Given the description of an element on the screen output the (x, y) to click on. 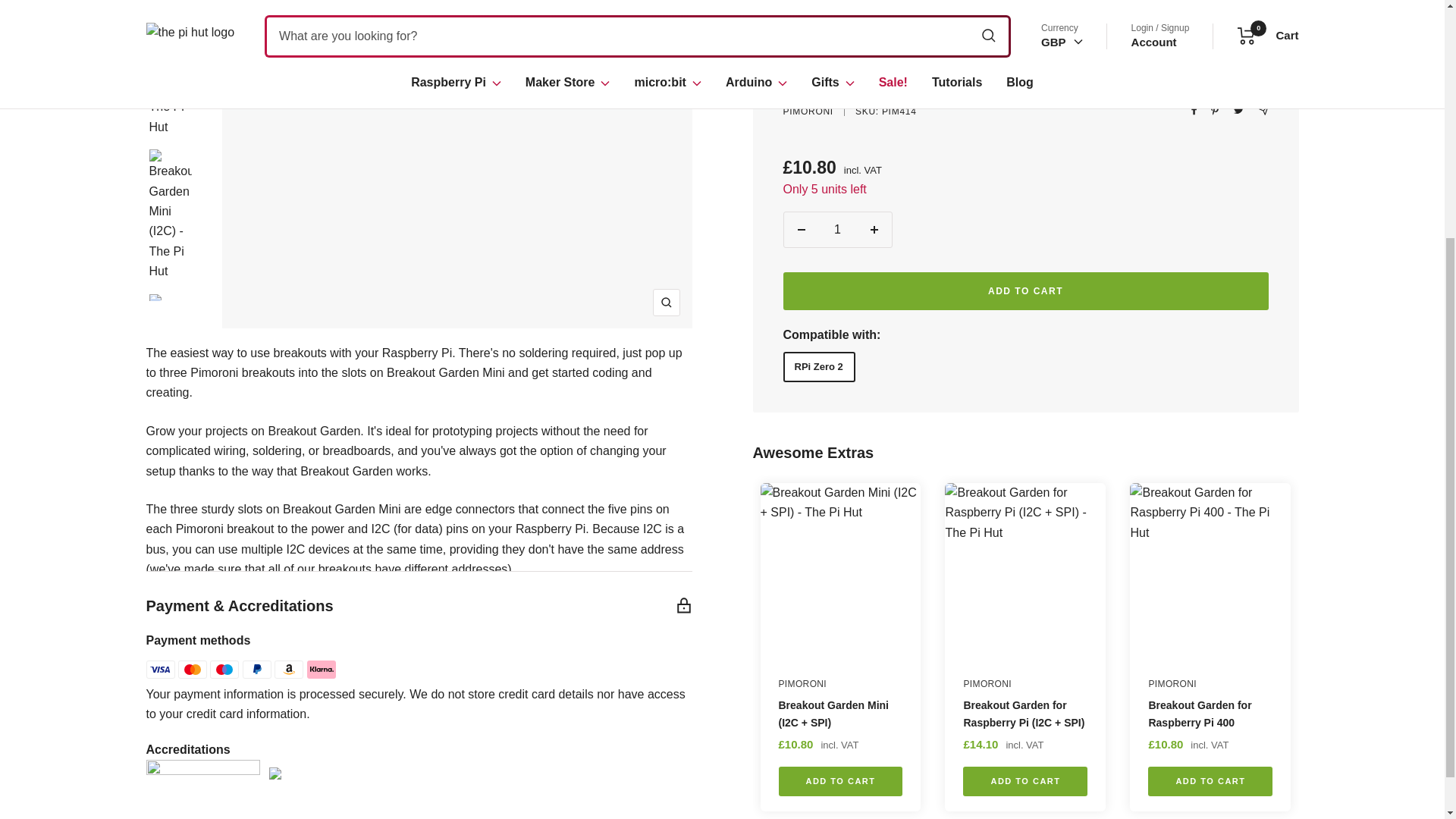
Maestro (223, 669)
Visa (159, 669)
1 (837, 46)
Mastercard (191, 669)
